Given the description of an element on the screen output the (x, y) to click on. 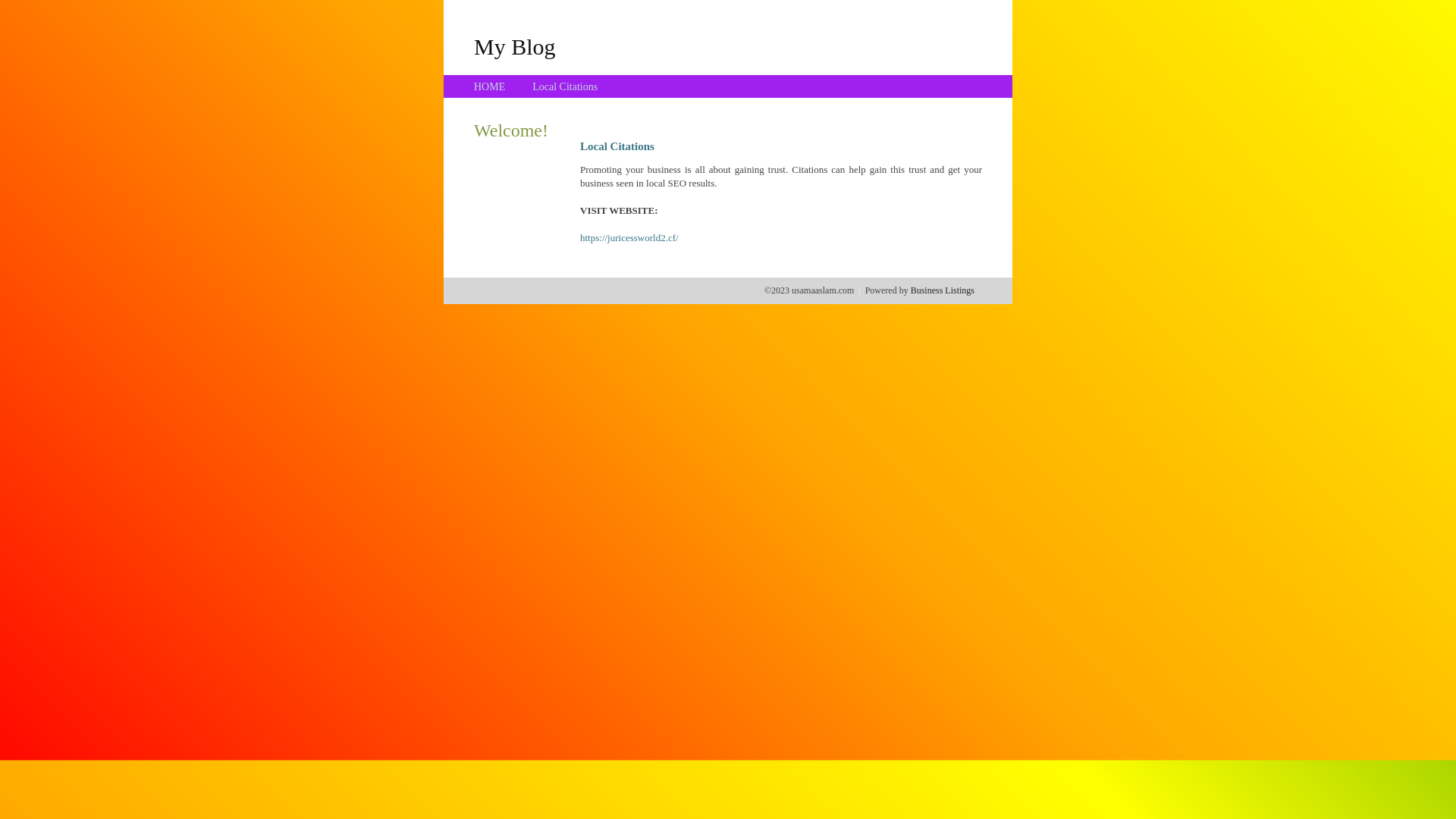
Business Listings Element type: text (942, 290)
Local Citations Element type: text (564, 86)
My Blog Element type: text (514, 46)
HOME Element type: text (489, 86)
https://juricessworld2.cf/ Element type: text (629, 237)
